Given the description of an element on the screen output the (x, y) to click on. 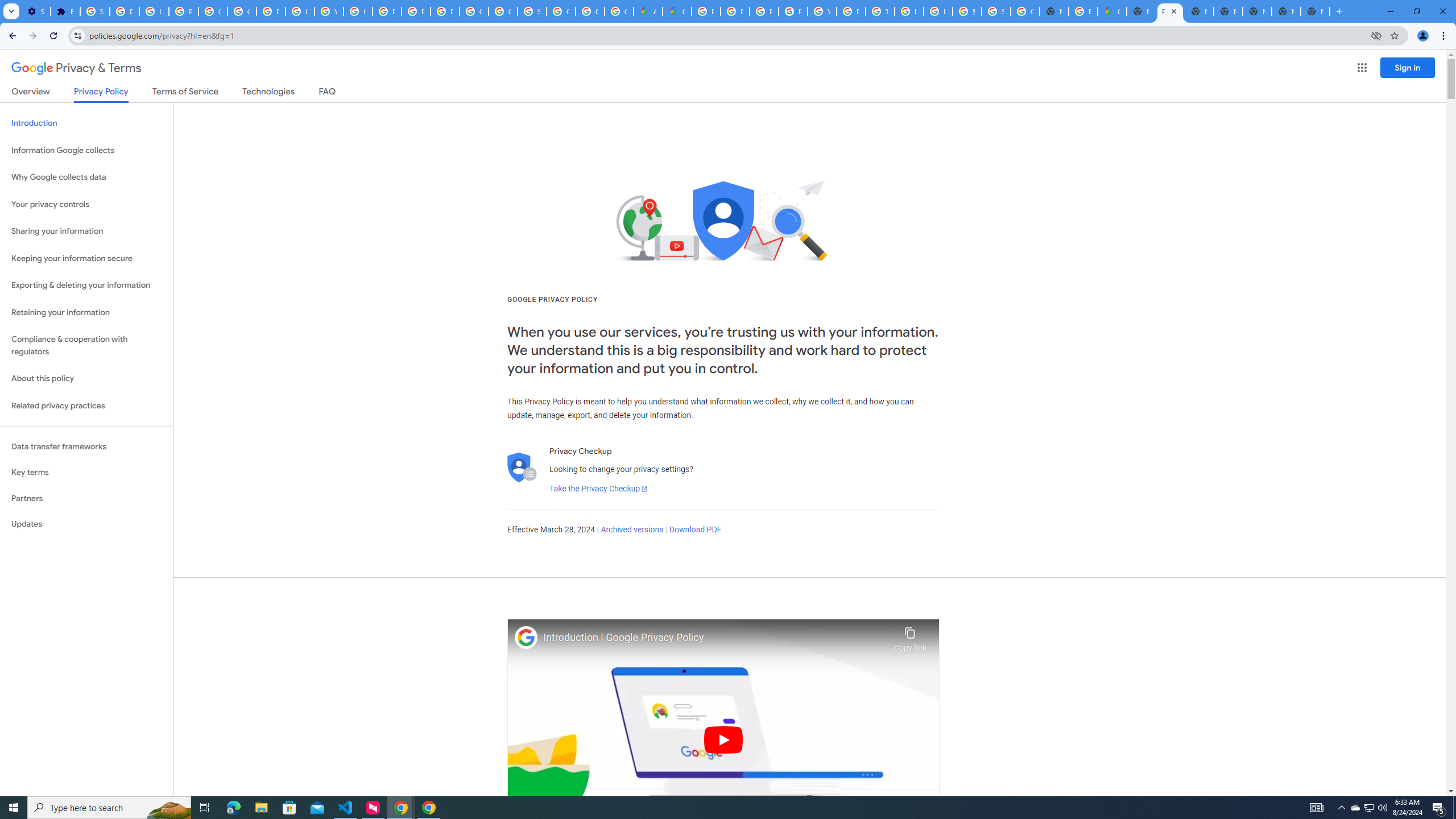
Exporting & deleting your information (86, 284)
Overview (30, 93)
Information Google collects (86, 150)
YouTube (821, 11)
Explore new street-level details - Google Maps Help (1082, 11)
Copy link (909, 636)
